Given the description of an element on the screen output the (x, y) to click on. 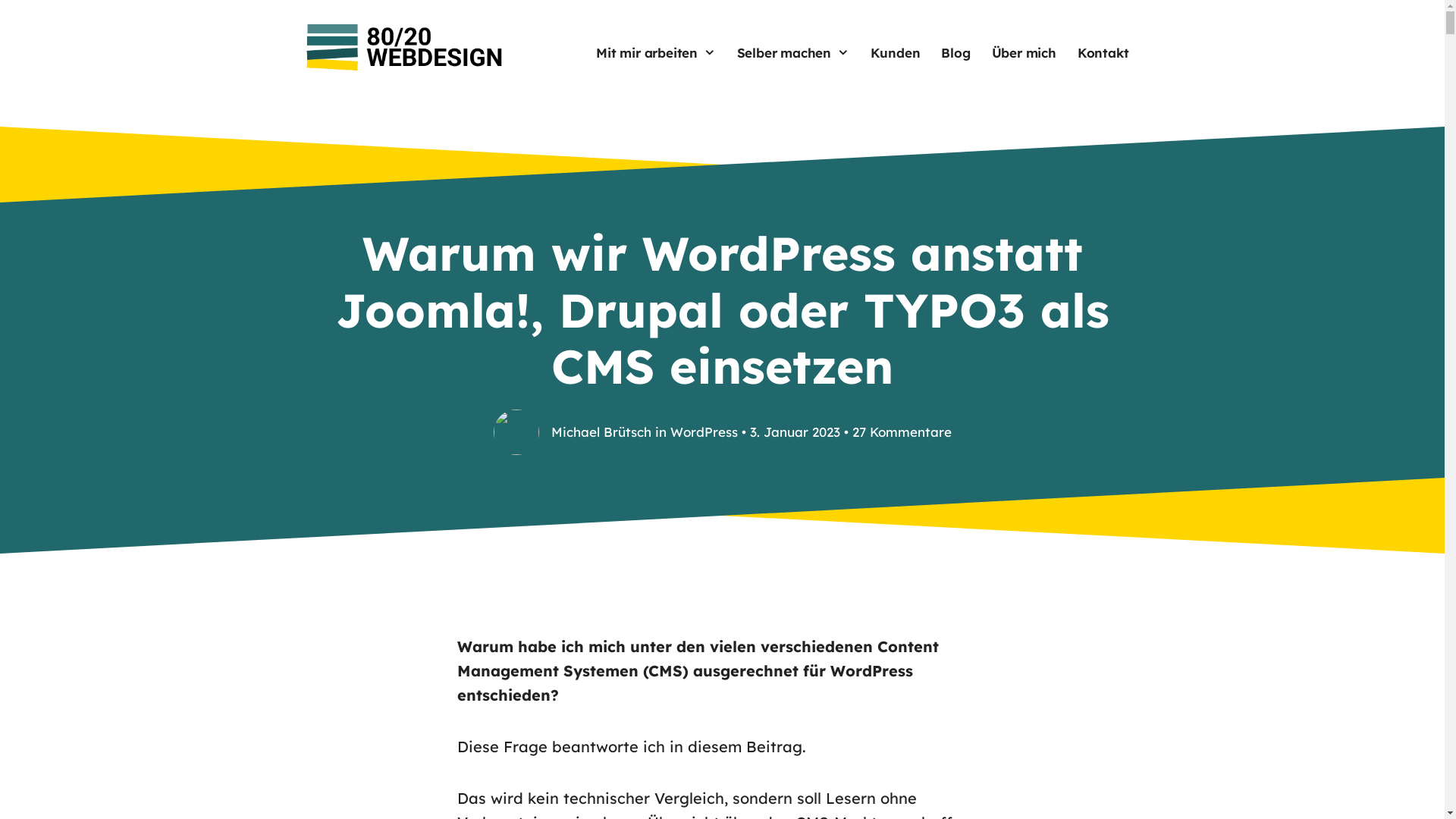
Kunden Element type: text (895, 52)
Blog Element type: text (955, 52)
Selber machen Element type: text (792, 52)
Kontakt Element type: text (1102, 52)
WordPress Element type: text (703, 431)
Mit mir arbeiten Element type: text (655, 52)
27 Kommentare Element type: text (901, 431)
